Given the description of an element on the screen output the (x, y) to click on. 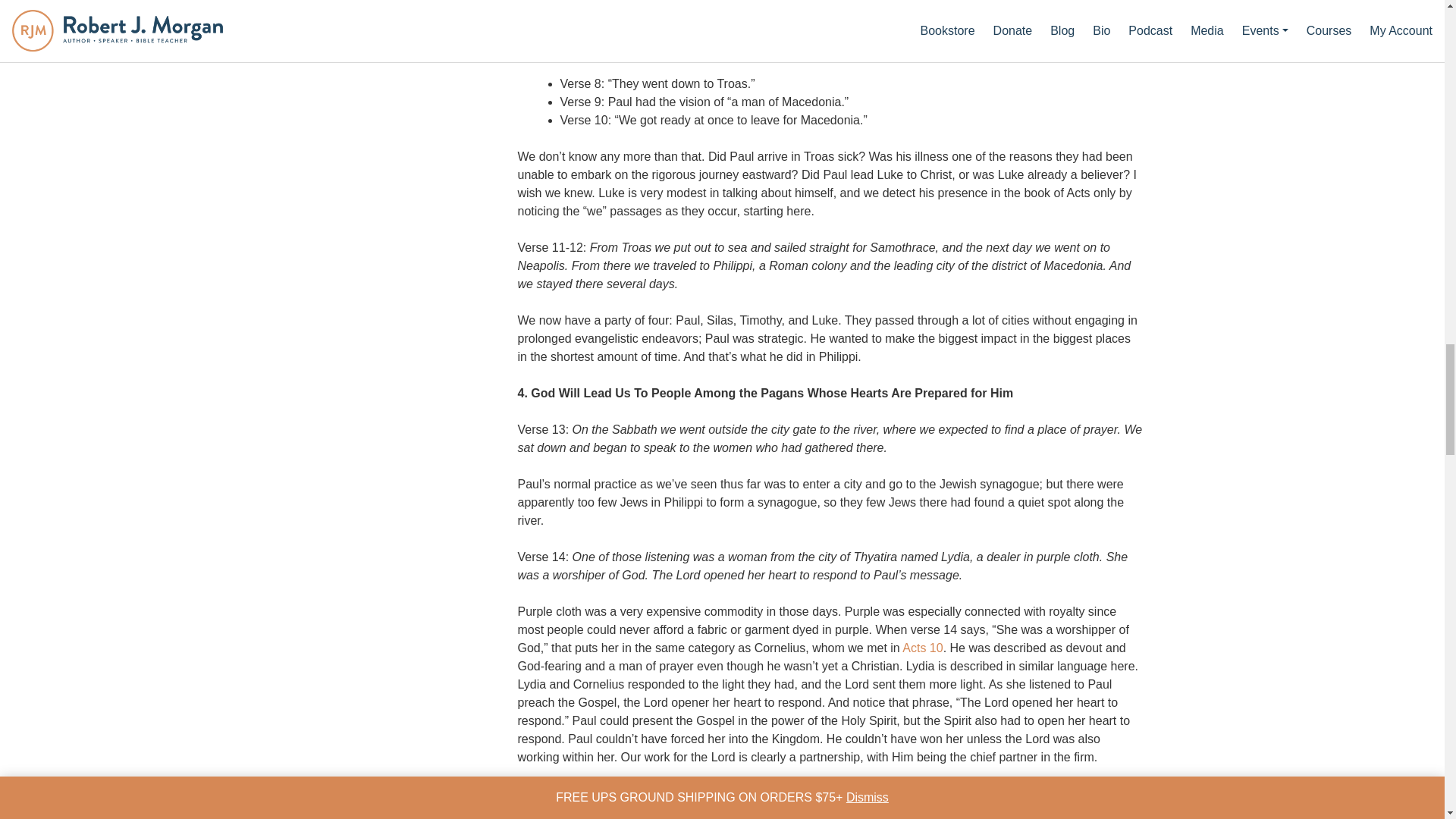
Acts 10 (922, 647)
